Given the description of an element on the screen output the (x, y) to click on. 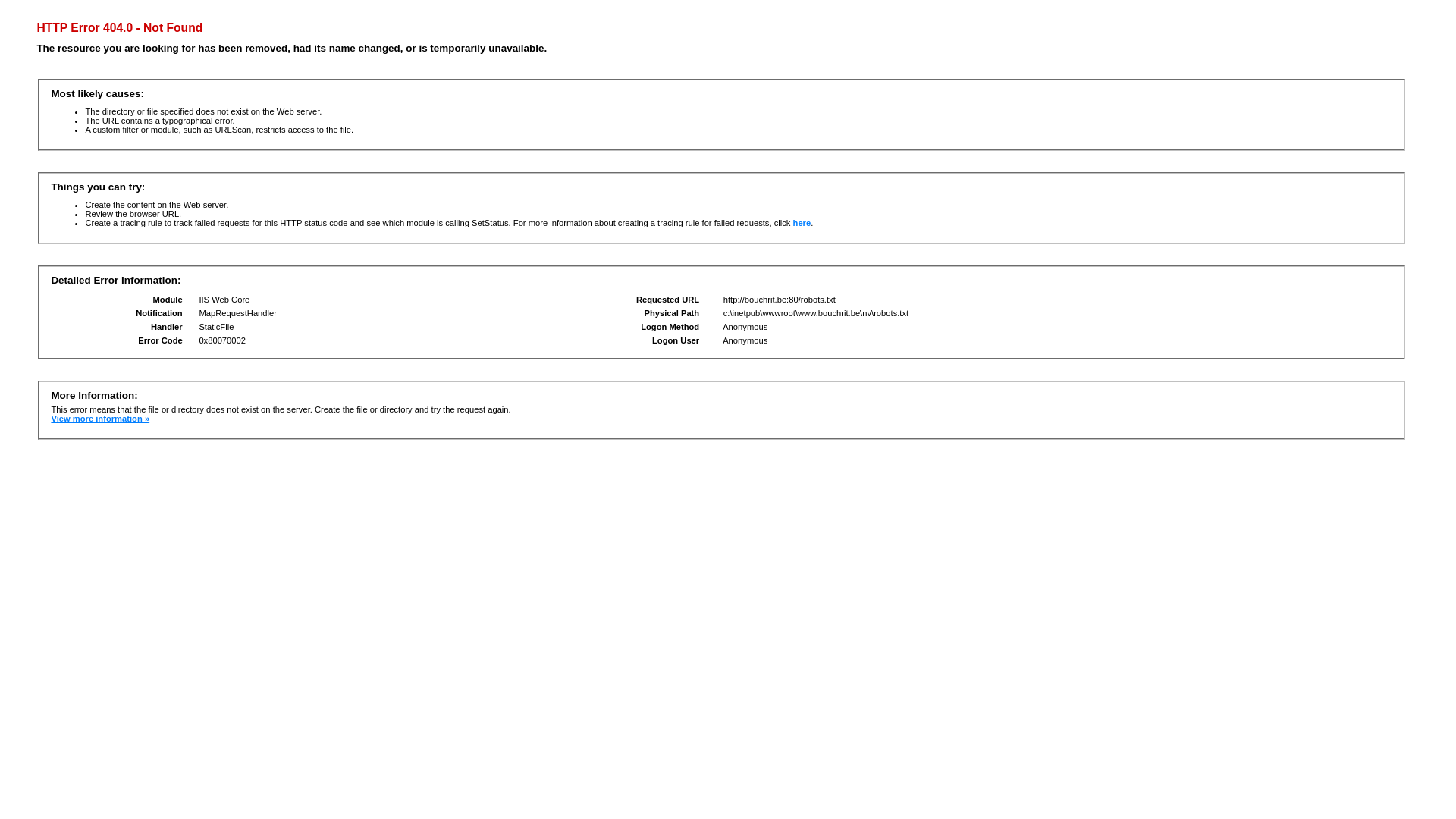
here Element type: text (802, 222)
